Given the description of an element on the screen output the (x, y) to click on. 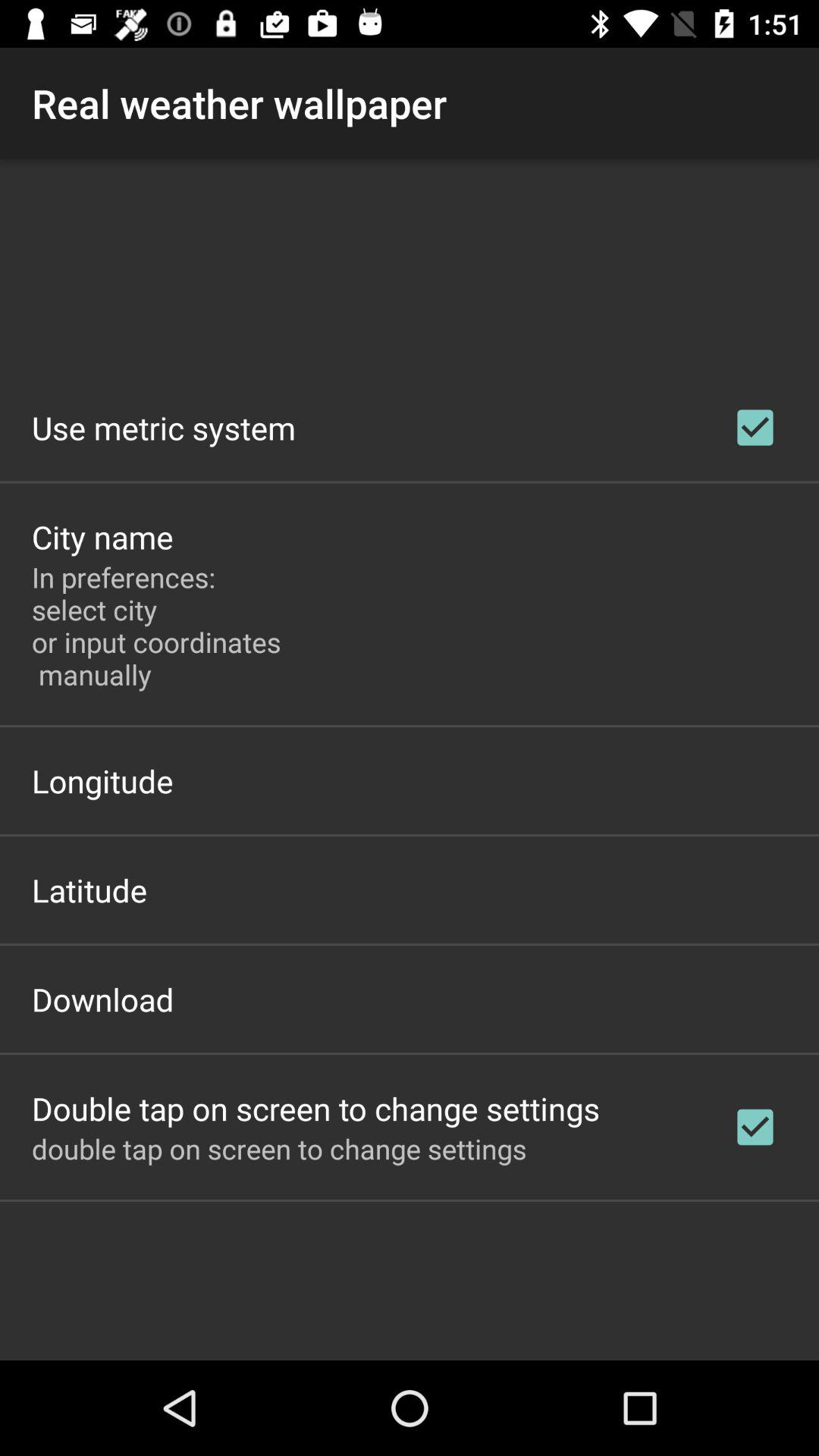
scroll until the in preferences select item (160, 625)
